Given the description of an element on the screen output the (x, y) to click on. 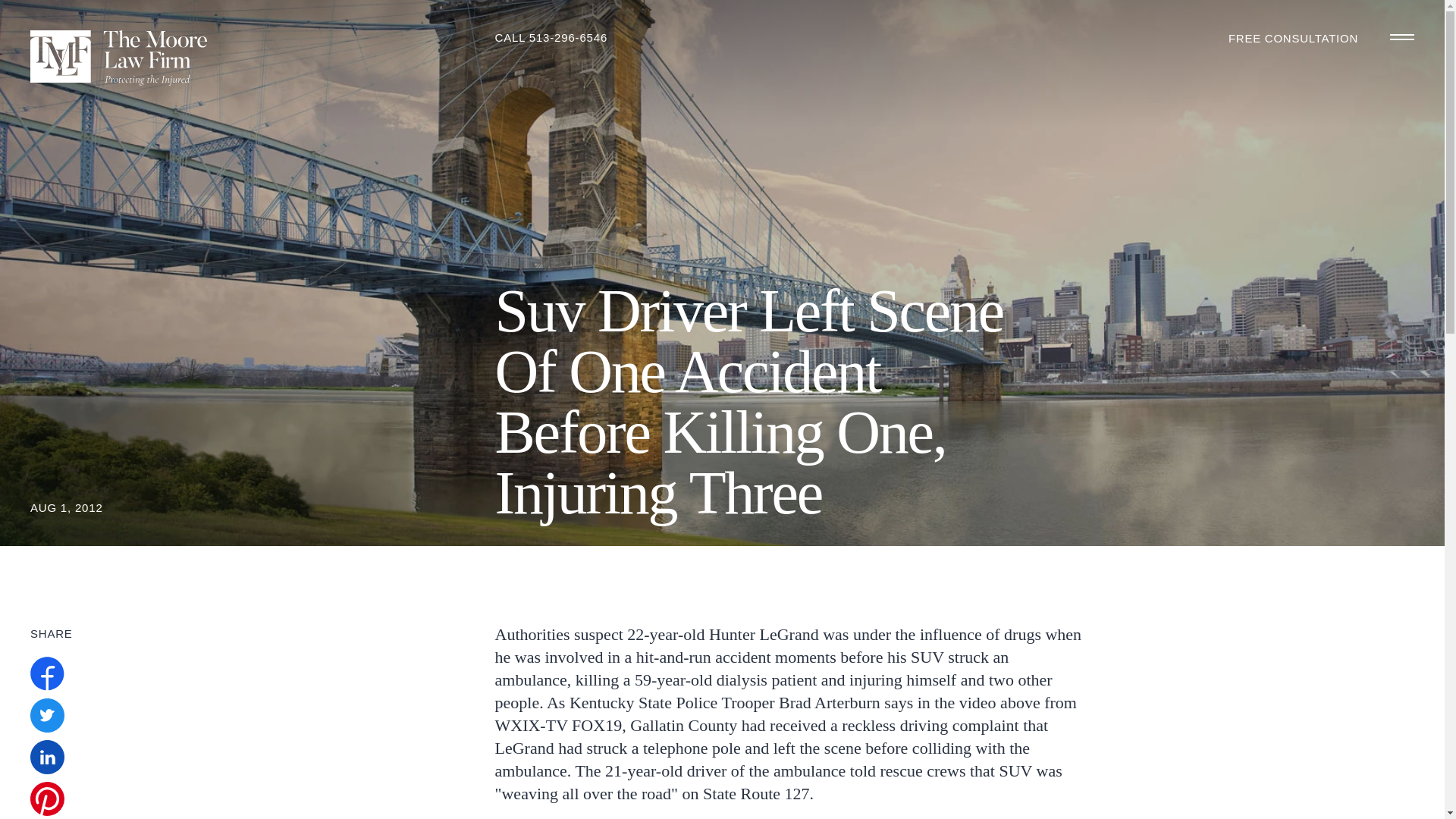
CALL 513-296-6546 (551, 37)
FREE CONSULTATION (1293, 38)
